Given the description of an element on the screen output the (x, y) to click on. 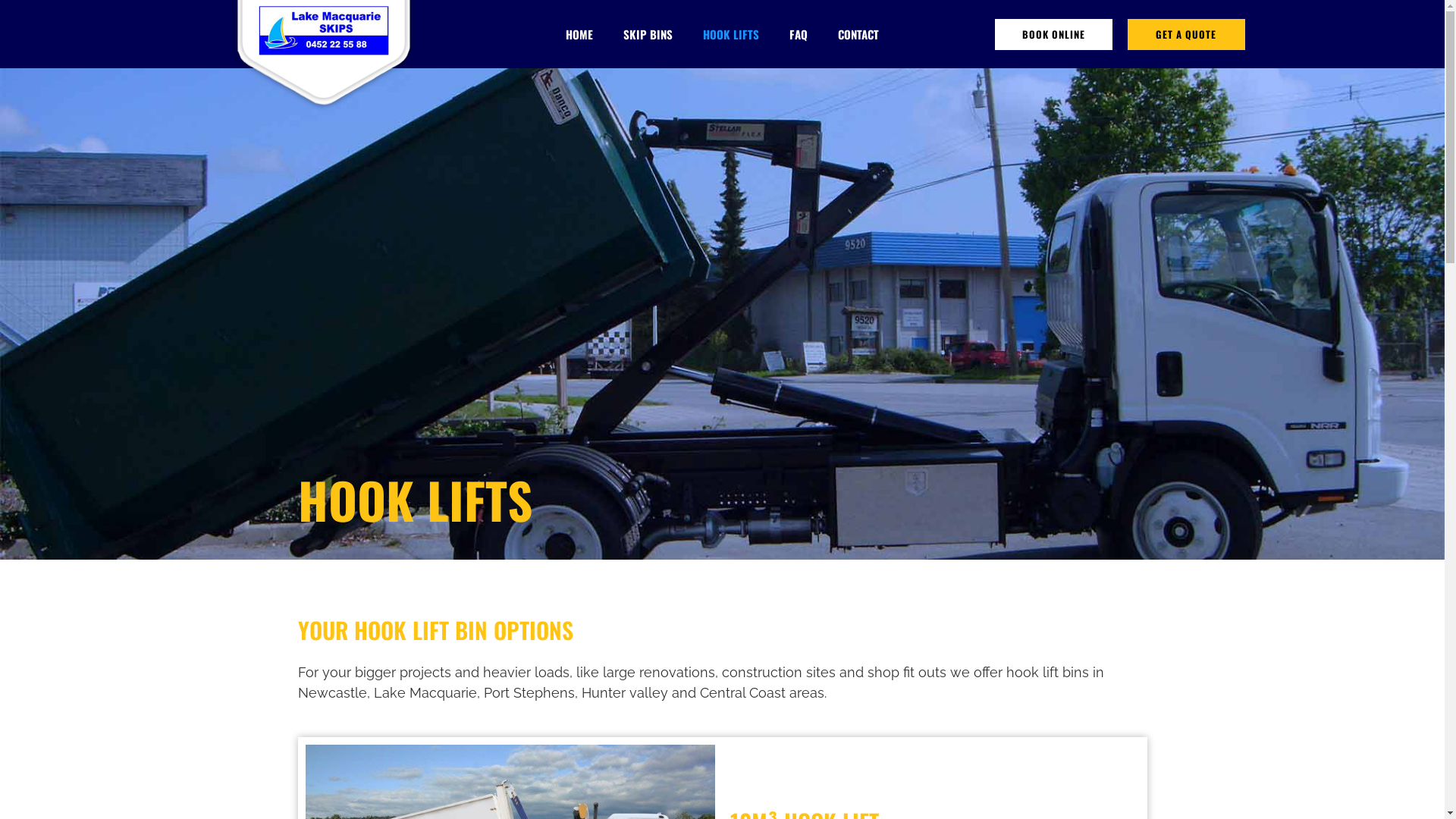
SKIP BINS Element type: text (647, 33)
CONTACT Element type: text (858, 33)
BOOK ONLINE Element type: text (1053, 34)
HOOK LIFTS Element type: text (730, 33)
HOME Element type: text (579, 33)
GET A QUOTE Element type: text (1186, 34)
FAQ Element type: text (798, 33)
